Given the description of an element on the screen output the (x, y) to click on. 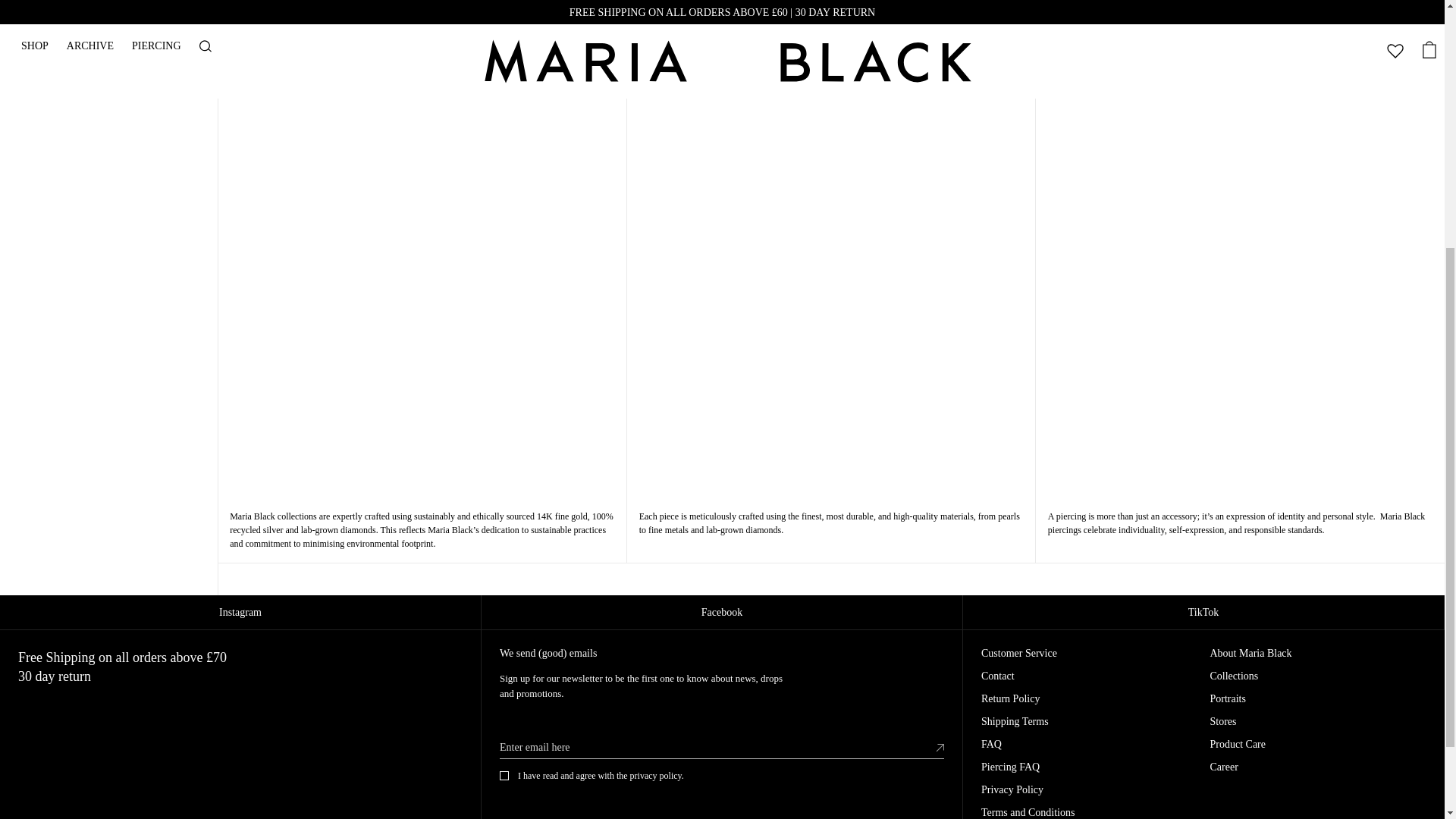
Privacy Policy (1012, 789)
Terms and Conditions (1027, 812)
About Maria Black (1250, 653)
Facebook (721, 612)
Portraits (1227, 698)
FAQ (991, 744)
Career (1224, 767)
Return Policy (1010, 698)
Stores (1222, 721)
Customer Service (1019, 653)
Instagram (240, 612)
Product Care (1237, 744)
Collections (1234, 675)
